Given the description of an element on the screen output the (x, y) to click on. 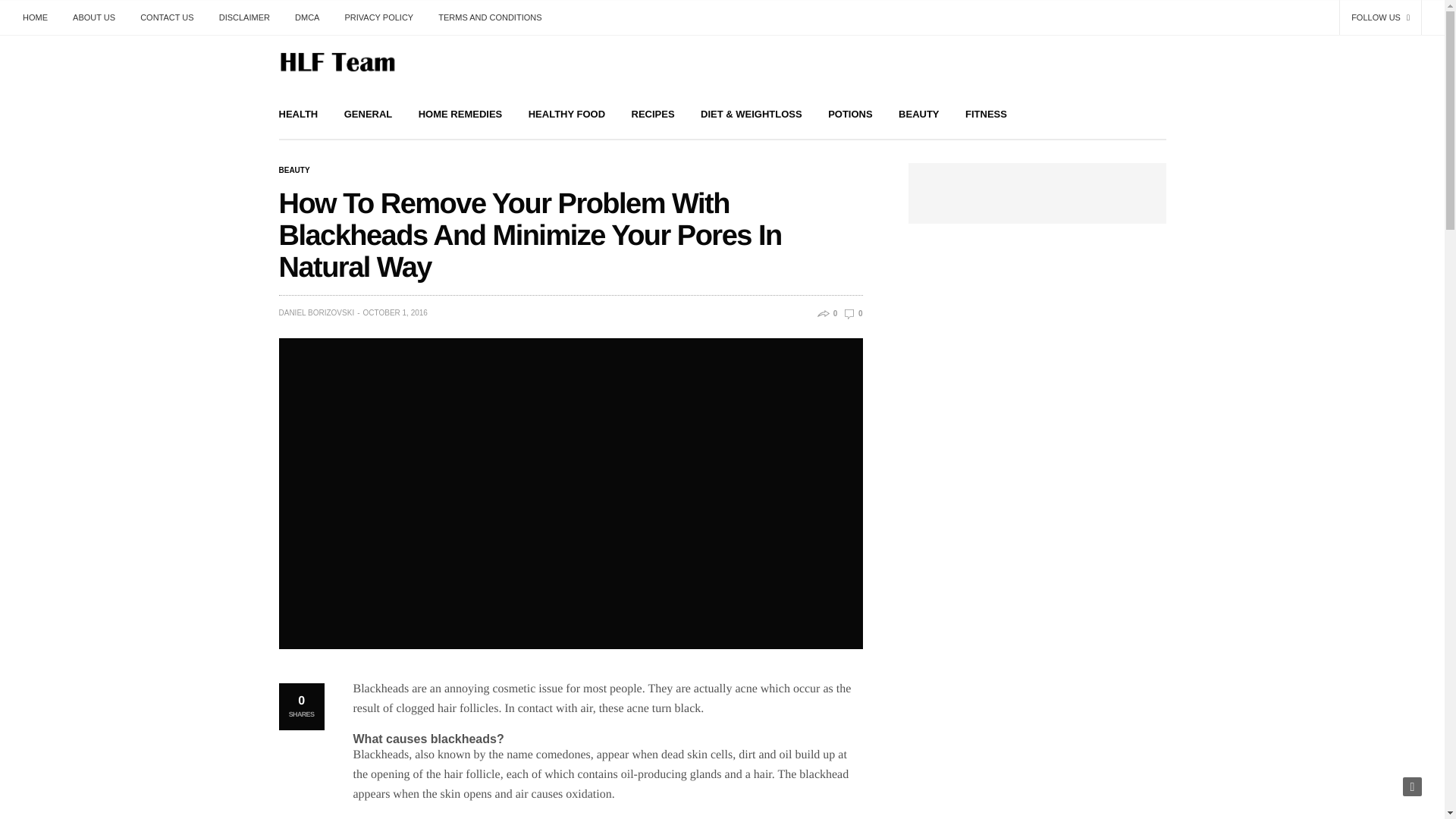
HEALTHY FOOD (566, 113)
Posts by Daniel Borizovski (317, 312)
GENERAL (368, 113)
DISCLAIMER (244, 17)
BEAUTY (918, 113)
0 (852, 313)
ABOUT US (93, 17)
TERMS AND CONDITIONS (489, 17)
POTIONS (850, 113)
CONTACT US (167, 17)
